Given the description of an element on the screen output the (x, y) to click on. 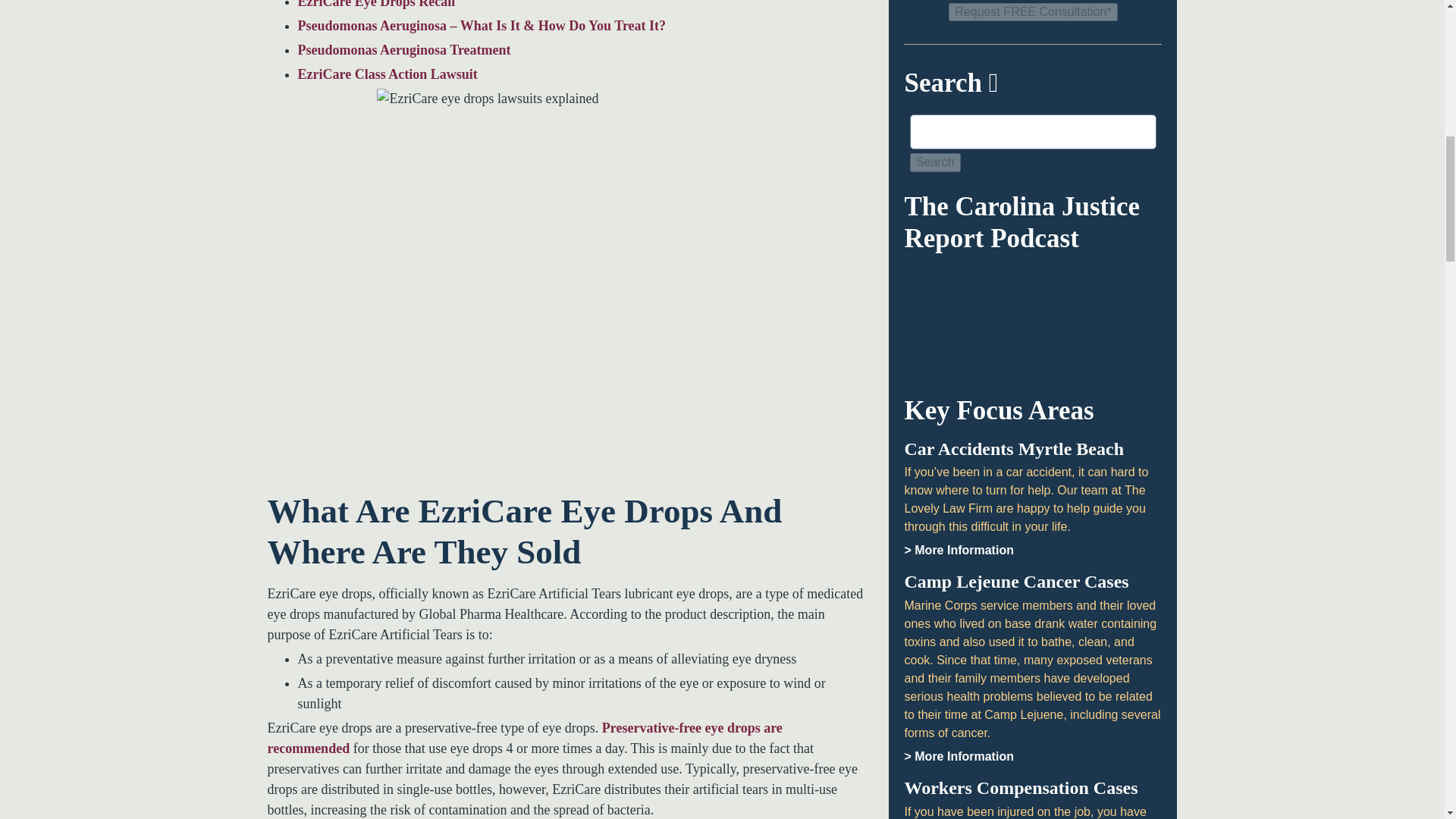
Search (935, 162)
